Given the description of an element on the screen output the (x, y) to click on. 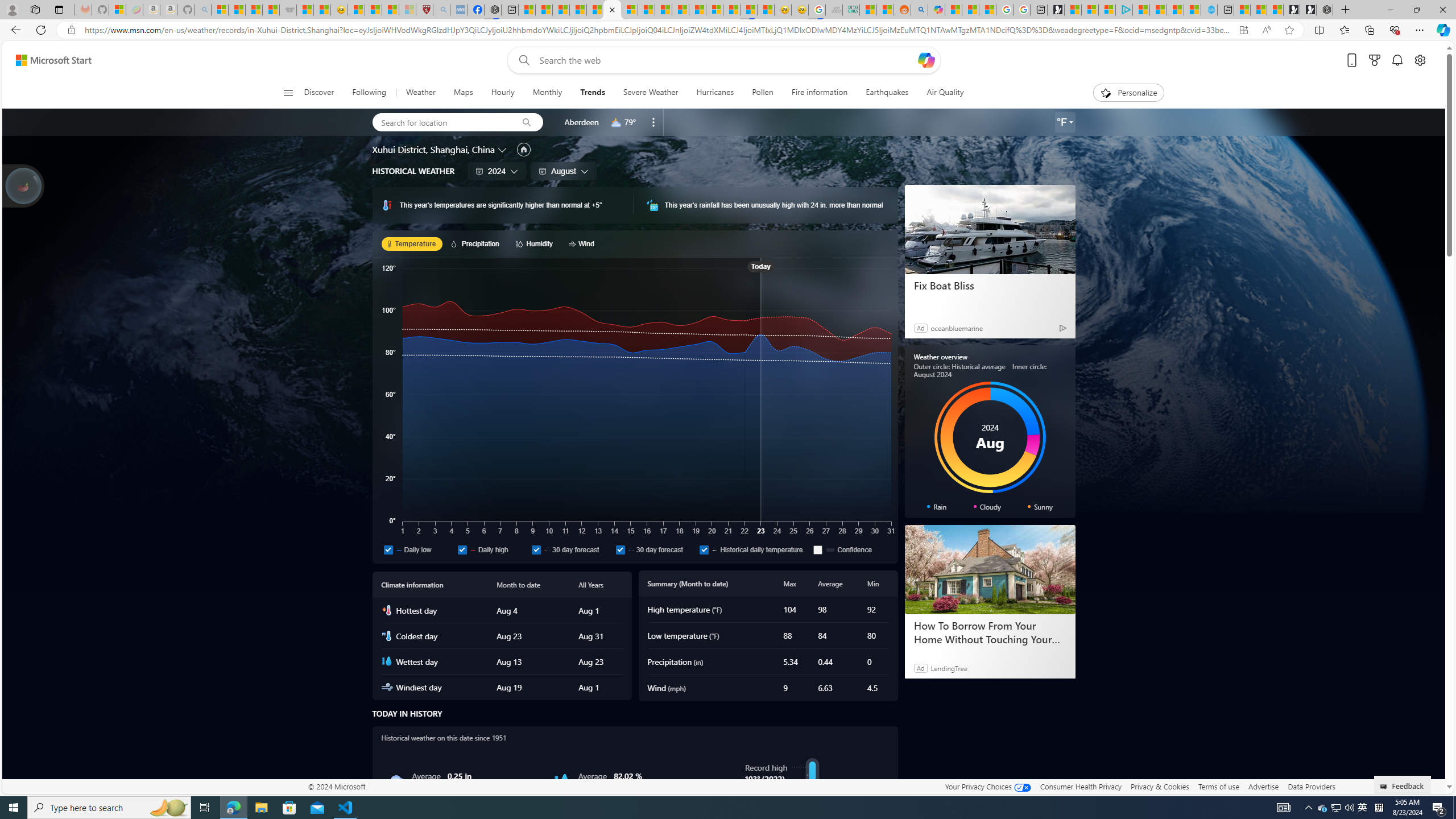
Confidence (849, 549)
